Given the description of an element on the screen output the (x, y) to click on. 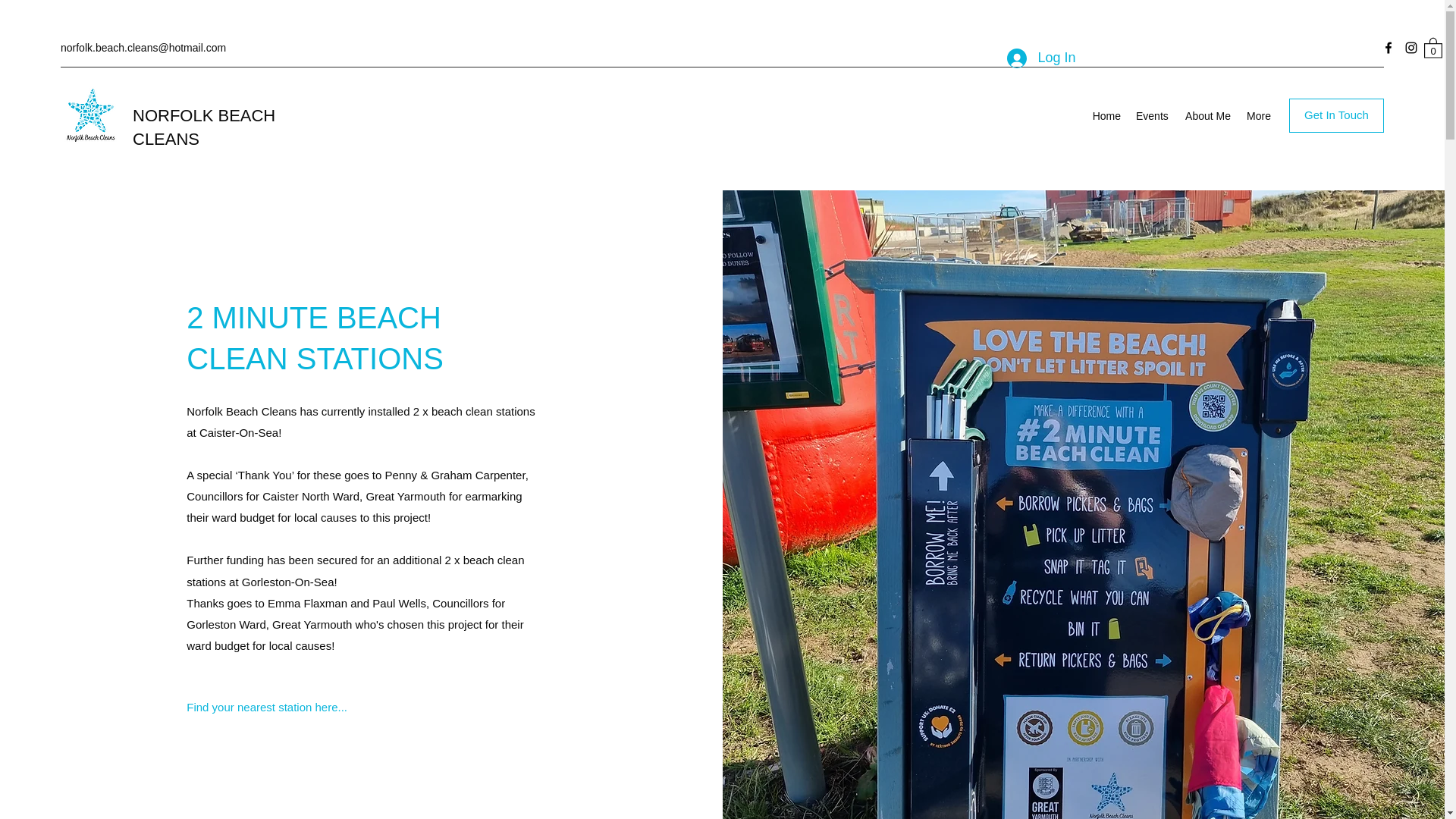
Home (1106, 115)
Events (1151, 115)
Log In (1040, 58)
Get In Touch (1336, 115)
NORFOLK BEACH CLEANS (203, 127)
About Me (1206, 115)
